Given the description of an element on the screen output the (x, y) to click on. 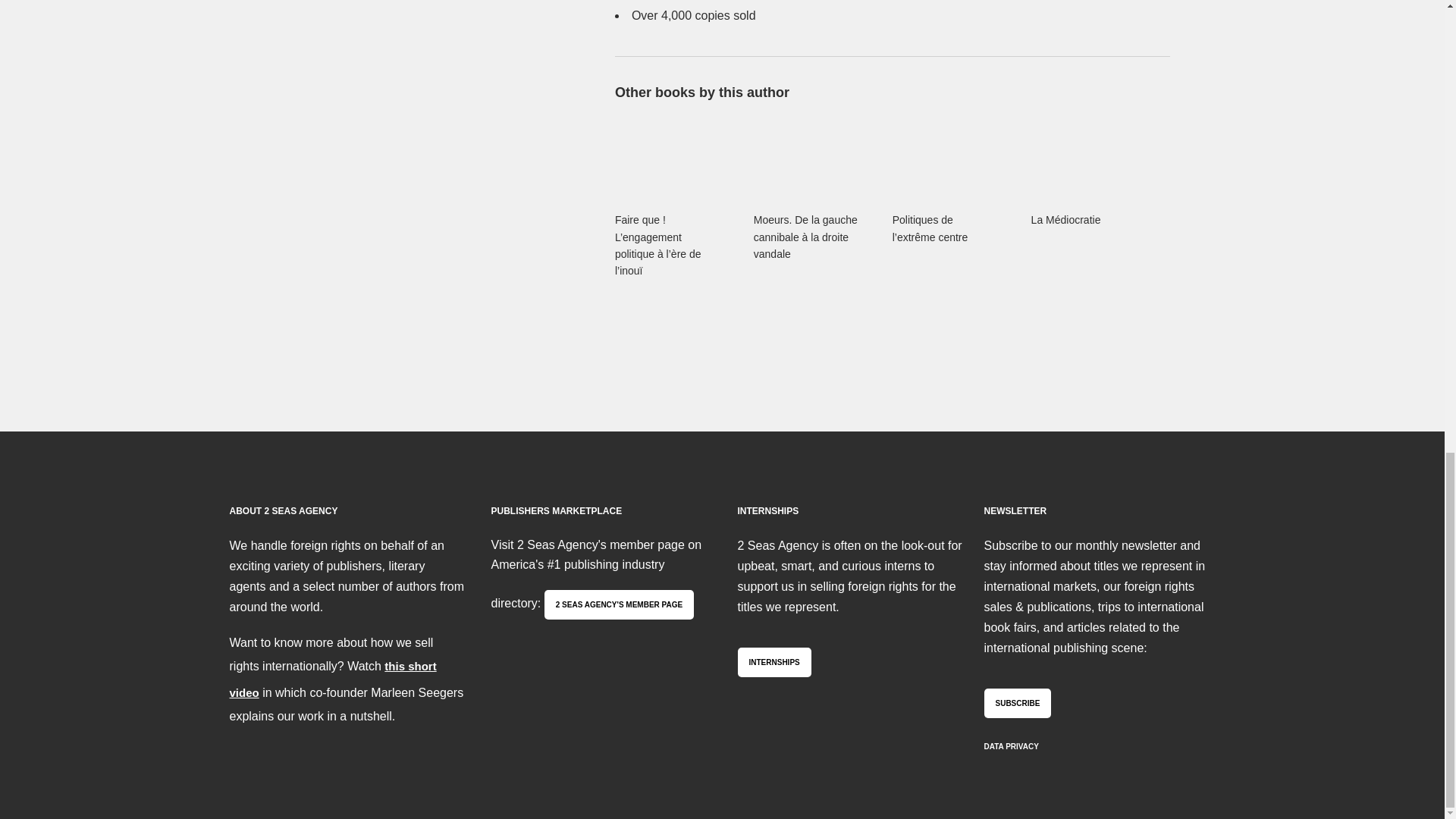
DATA PRIVACY (1011, 746)
2 SEAS AGENCY'S MEMBER PAGE (619, 604)
INTERNSHIPS (773, 662)
SUBSCRIBE (1017, 703)
this short video (331, 679)
